Given the description of an element on the screen output the (x, y) to click on. 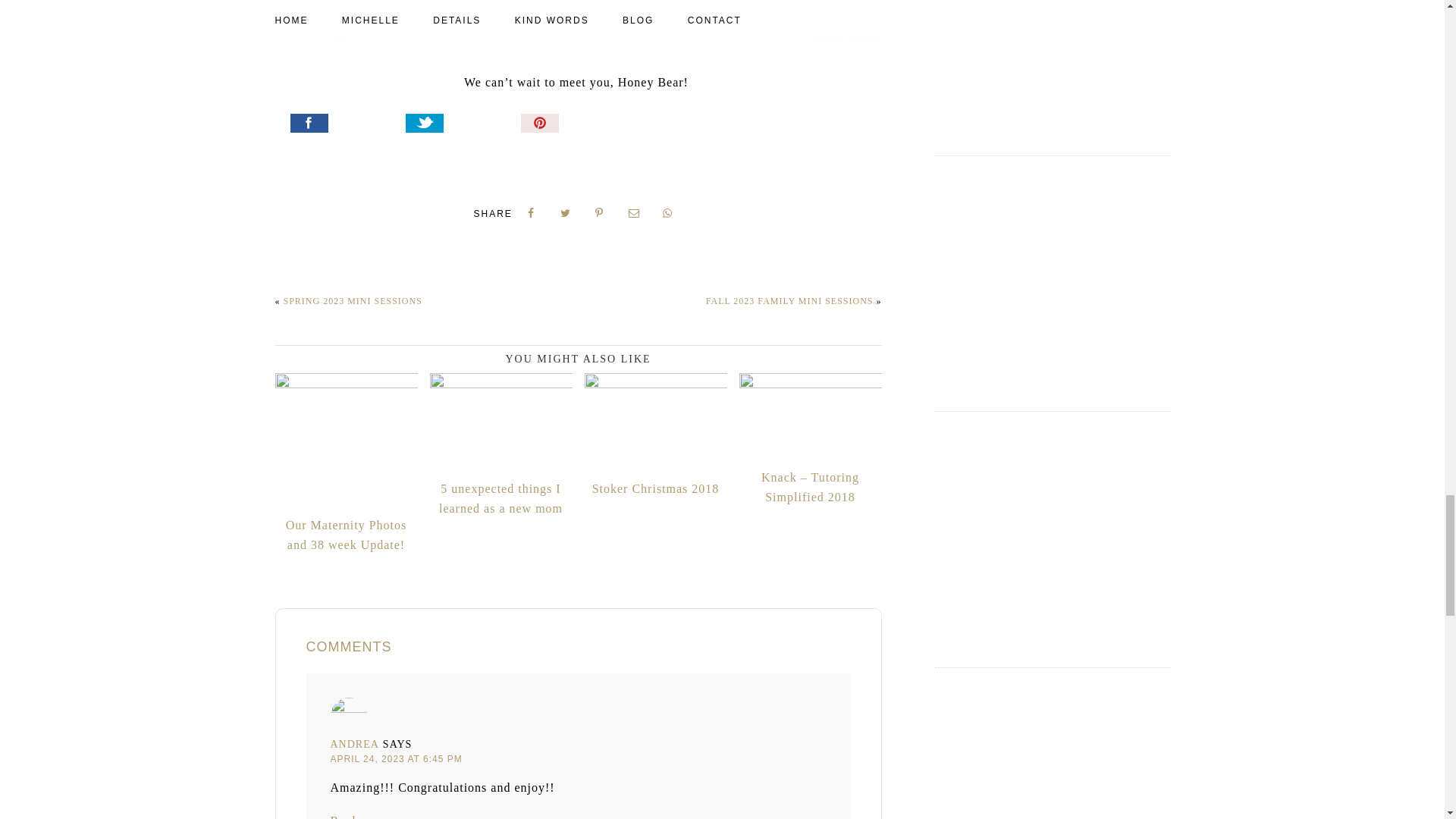
Reply (346, 816)
SPRING 2023 MINI SESSIONS (352, 300)
Permanent Link toStoker Christmas 2018 (654, 436)
Pin It! (576, 124)
APRIL 24, 2023 AT 6:45 PM (396, 758)
Stoker Christmas 2018 (654, 436)
Share on Facebook. (346, 124)
5 unexpected things I learned as a new mom (500, 446)
Permanent Link to5 unexpected things I learned as a new mom (500, 446)
FALL 2023 FAMILY MINI SESSIONS (789, 300)
